Given the description of an element on the screen output the (x, y) to click on. 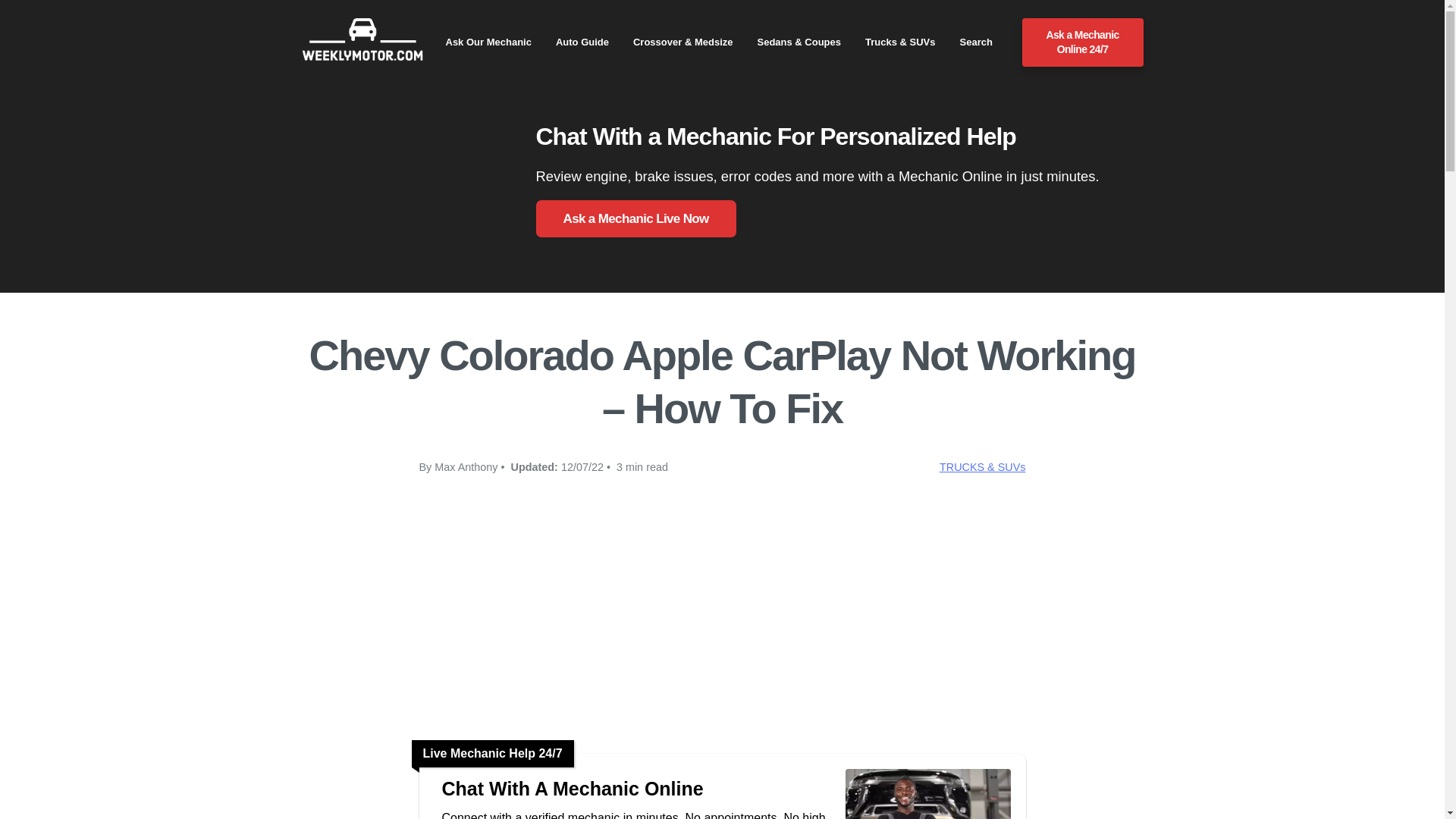
Ask Our Mechanic (488, 42)
Auto Guide (582, 42)
Ask a Mechanic Live Now (635, 218)
Search (975, 42)
Chat With A Mechanic Online (635, 788)
Chat With A Mechanic Online (635, 788)
